Given the description of an element on the screen output the (x, y) to click on. 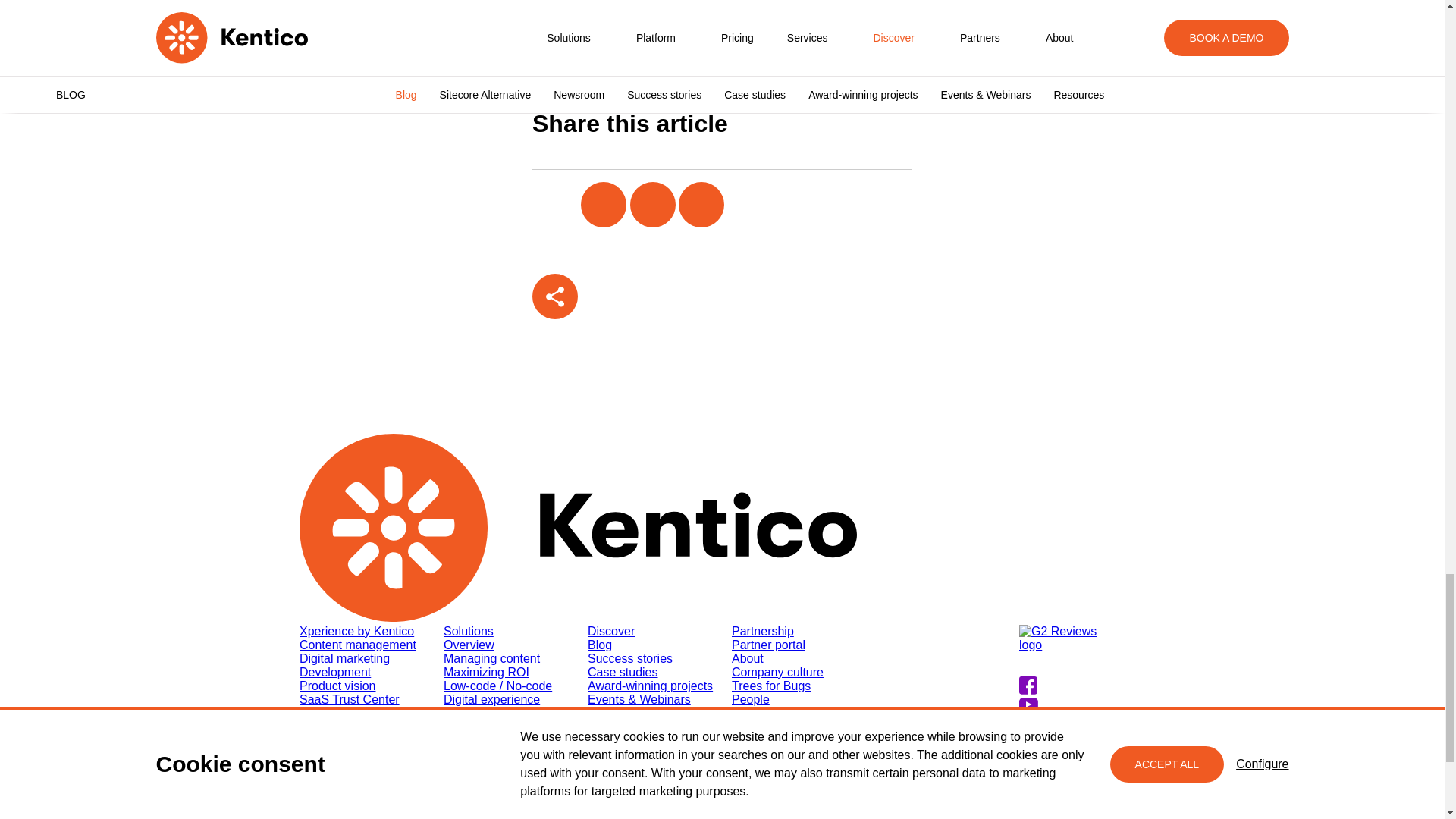
Facebook (695, 292)
Twitter (744, 292)
Read reviews of Kentico on G2 (1081, 650)
LinkedIn (793, 292)
